Given the description of an element on the screen output the (x, y) to click on. 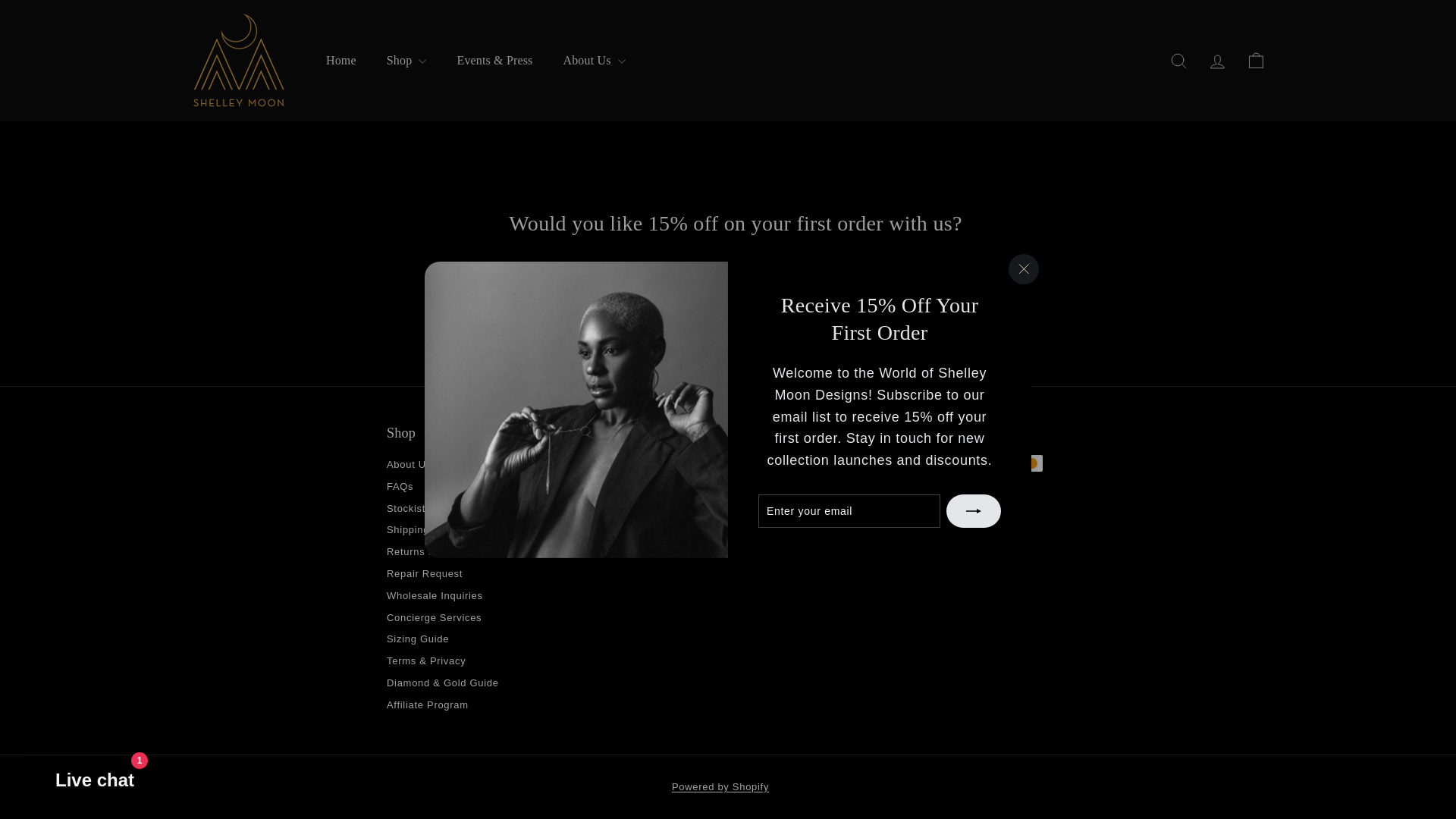
Visa (959, 489)
Mastercard (1028, 463)
Shop Pay (924, 489)
Apple Pay (959, 463)
instagram (568, 528)
Shelley Moon Designs on Instagram (568, 528)
American Express (924, 463)
Google Pay (994, 463)
